Given the description of an element on the screen output the (x, y) to click on. 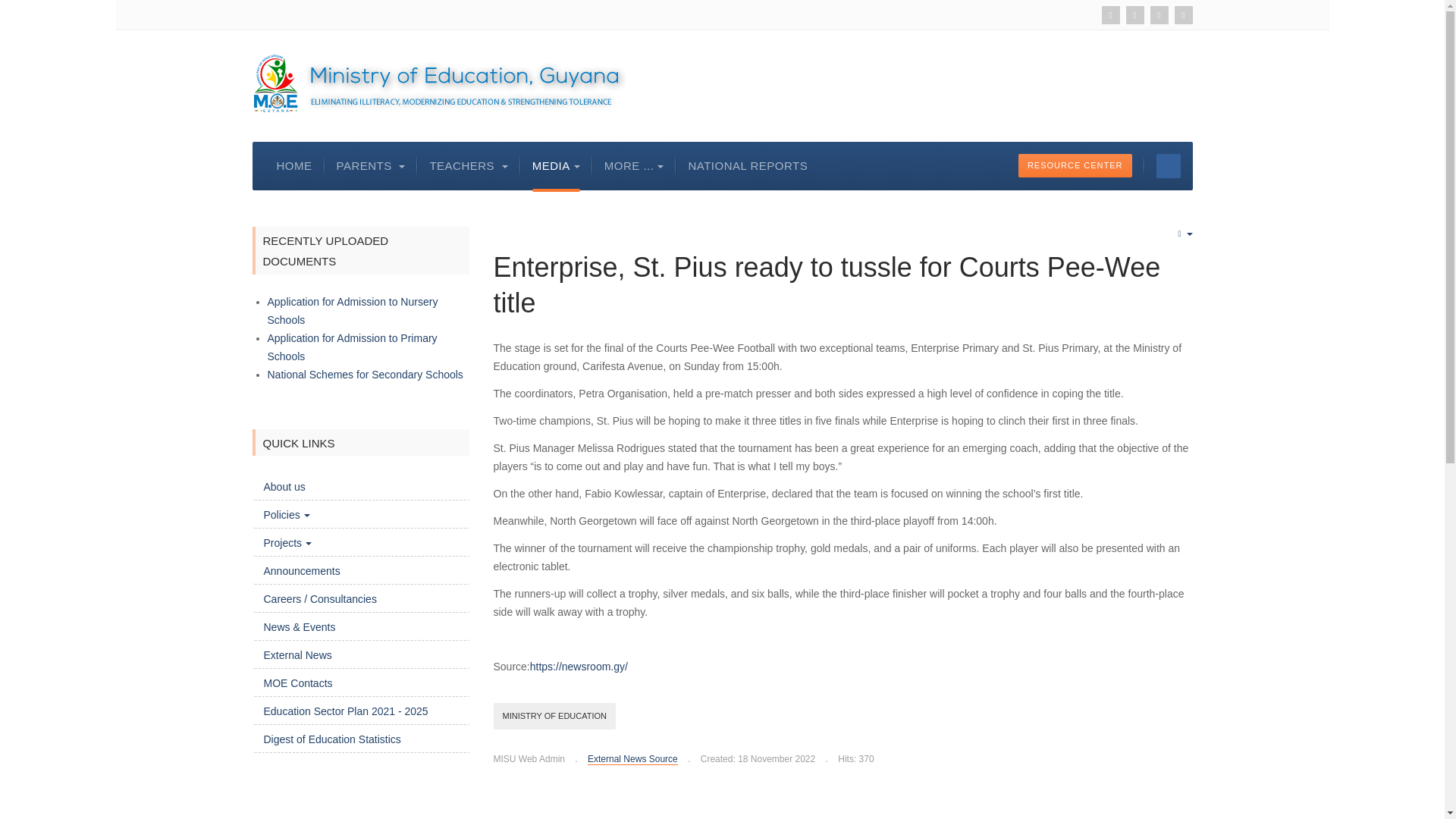
Instagram (1182, 14)
Facebook (1158, 14)
Written by  (528, 759)
Ministry of Education, Guyana (438, 83)
Twitter (1133, 14)
Document Section (1074, 165)
Youtube (1109, 14)
Category:  (626, 759)
